Given the description of an element on the screen output the (x, y) to click on. 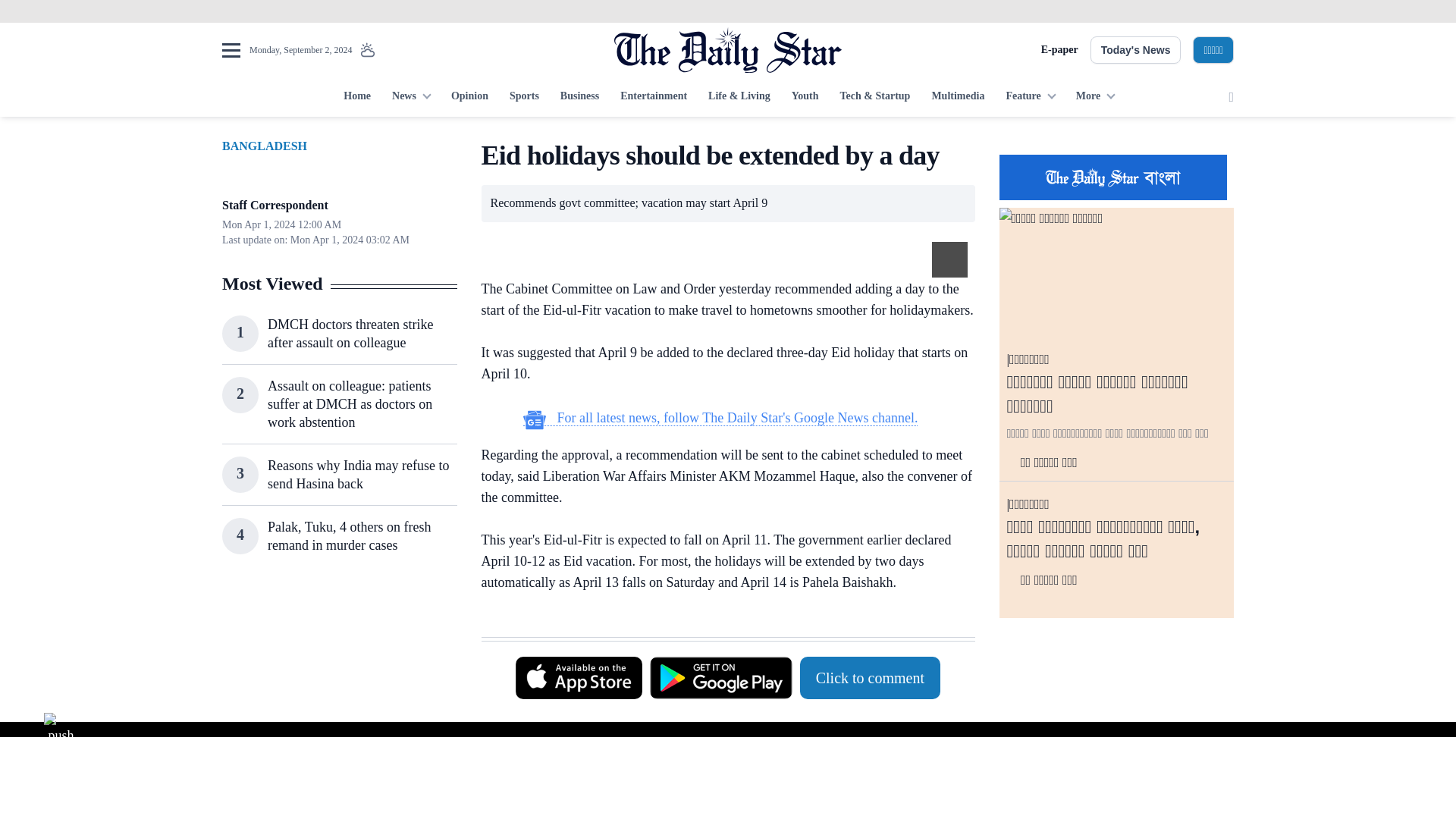
Business (579, 96)
E-paper (1059, 49)
Multimedia (956, 96)
Entertainment (653, 96)
Feature (1028, 96)
Today's News (1135, 49)
Home (357, 96)
Youth (805, 96)
News (410, 96)
